Given the description of an element on the screen output the (x, y) to click on. 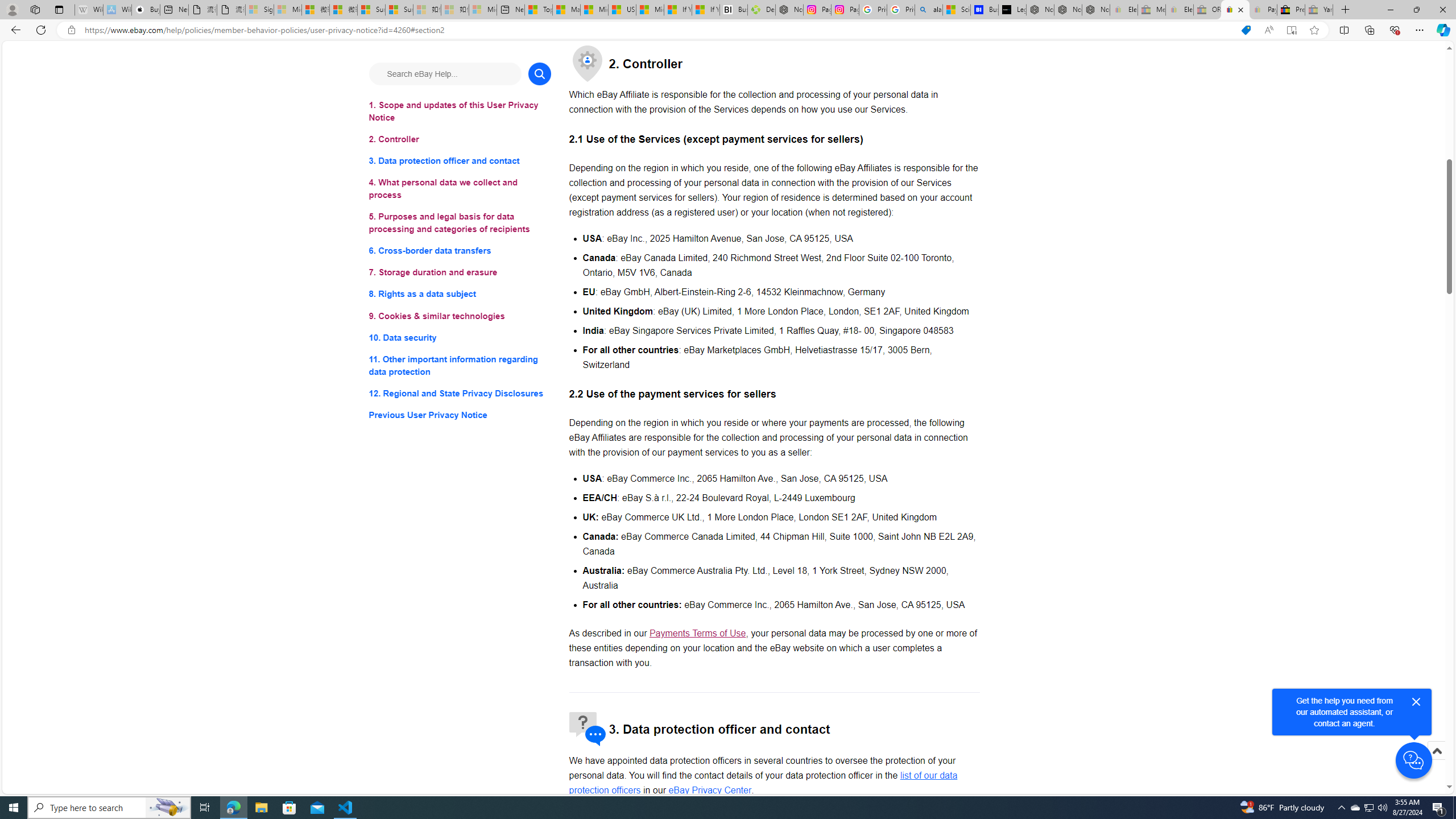
Scroll to top (1435, 750)
8. Rights as a data subject (459, 293)
12. Regional and State Privacy Disclosures (459, 392)
6. Cross-border data transfers (459, 250)
Search eBay Help... (444, 73)
9. Cookies & similar technologies (459, 315)
